Given the description of an element on the screen output the (x, y) to click on. 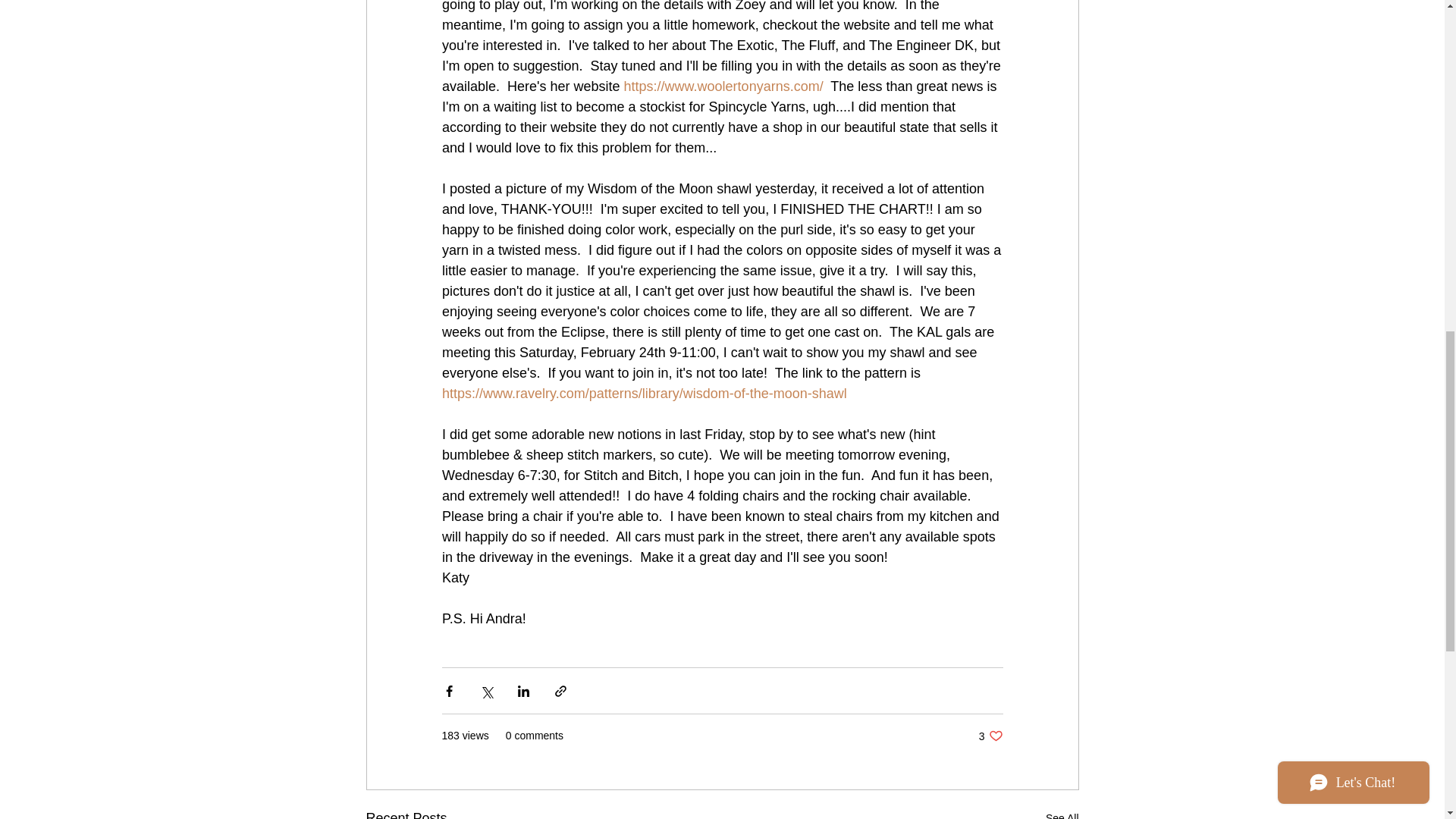
See All (990, 735)
